Given the description of an element on the screen output the (x, y) to click on. 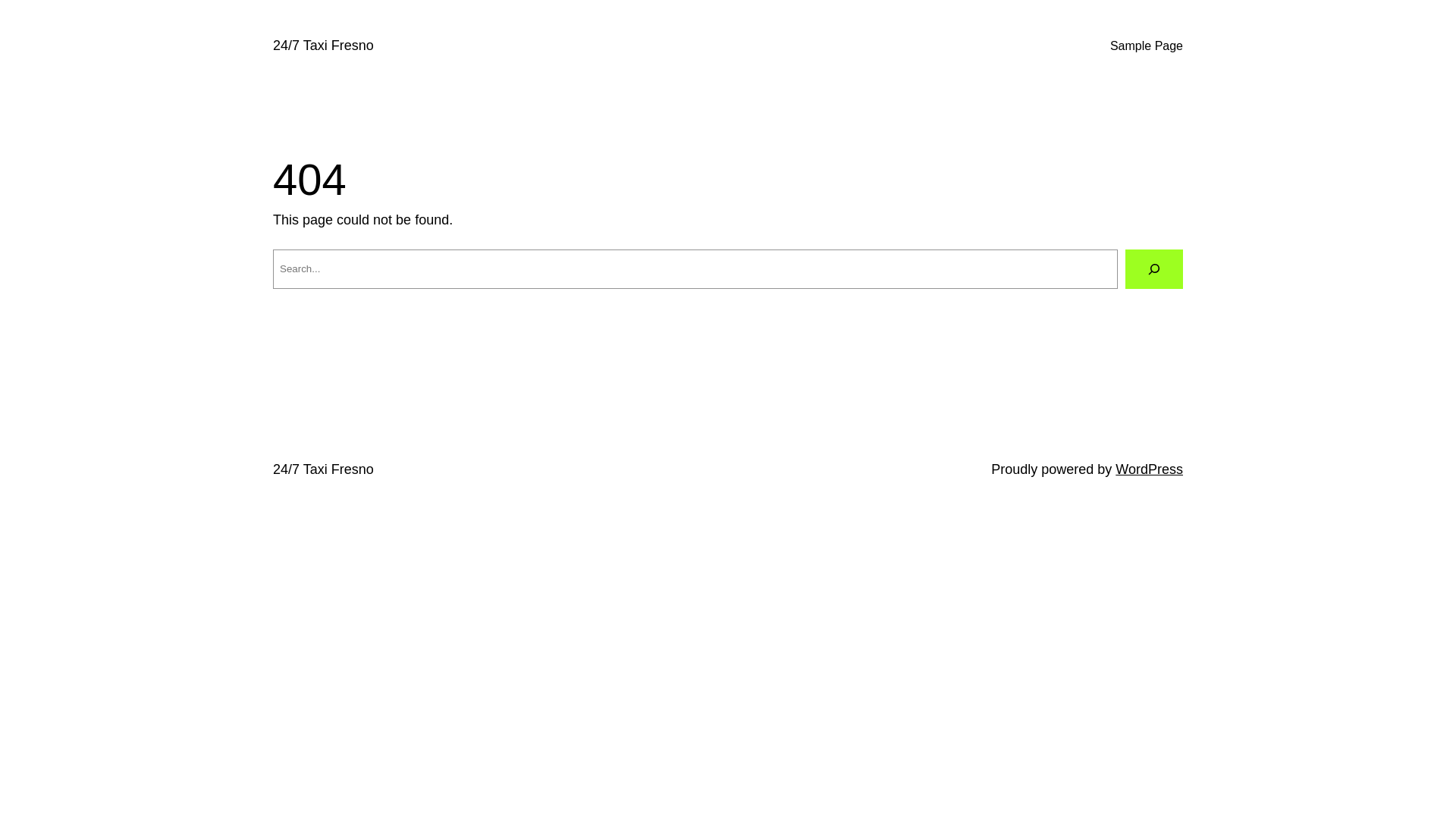
WordPress Element type: text (1149, 468)
24/7 Taxi Fresno Element type: text (323, 468)
Sample Page Element type: text (1146, 46)
24/7 Taxi Fresno Element type: text (323, 45)
